Given the description of an element on the screen output the (x, y) to click on. 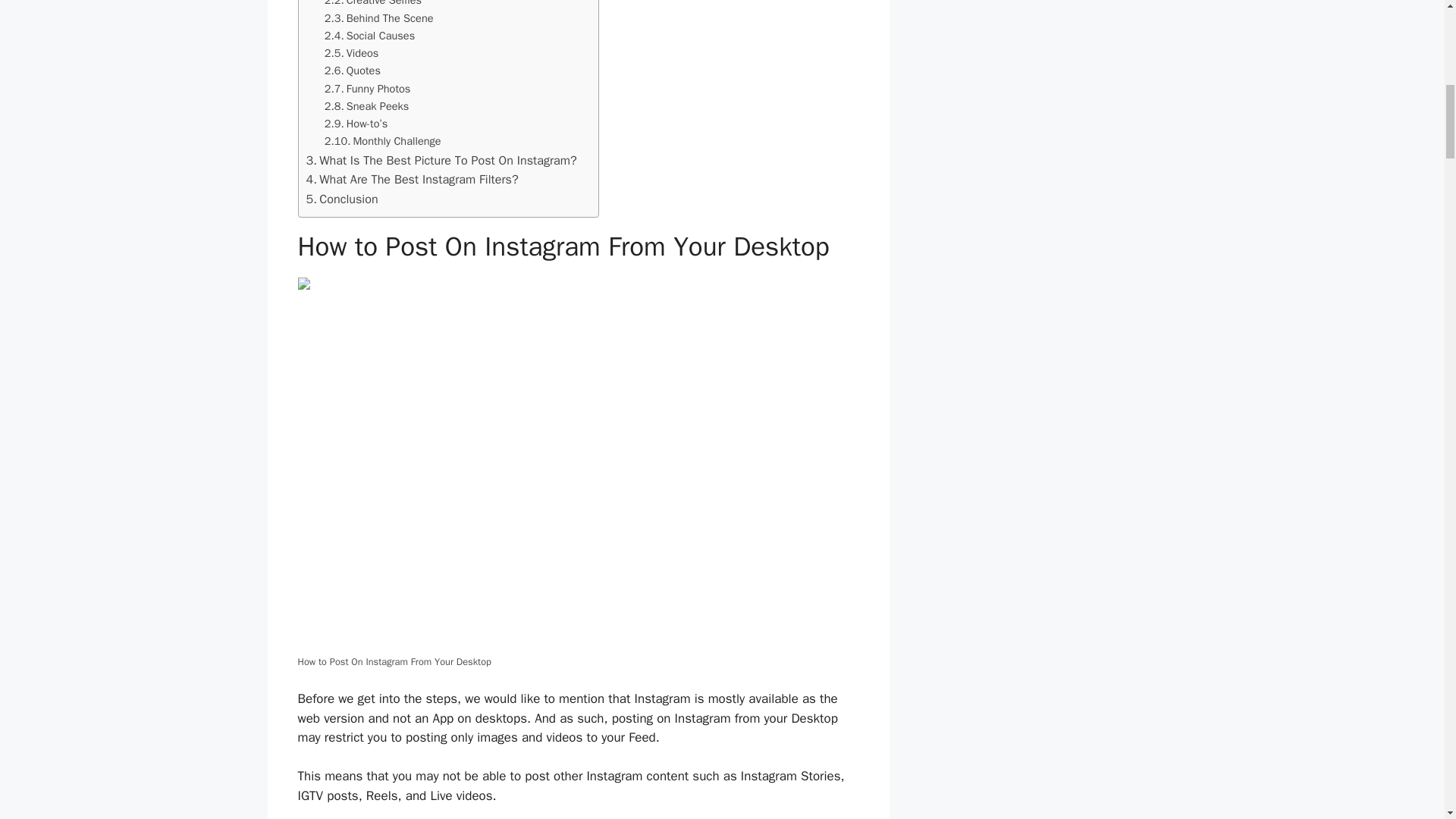
Creative Selfies (373, 4)
What Are The Best Instagram Filters? (411, 179)
Social Causes (369, 36)
Monthly Challenge (382, 140)
Behind The Scene (378, 18)
Behind The Scene (378, 18)
Sneak Peeks (366, 106)
Social Causes (369, 36)
Funny Photos (367, 88)
What Is The Best Picture To Post On Instagram? (440, 160)
